Given the description of an element on the screen output the (x, y) to click on. 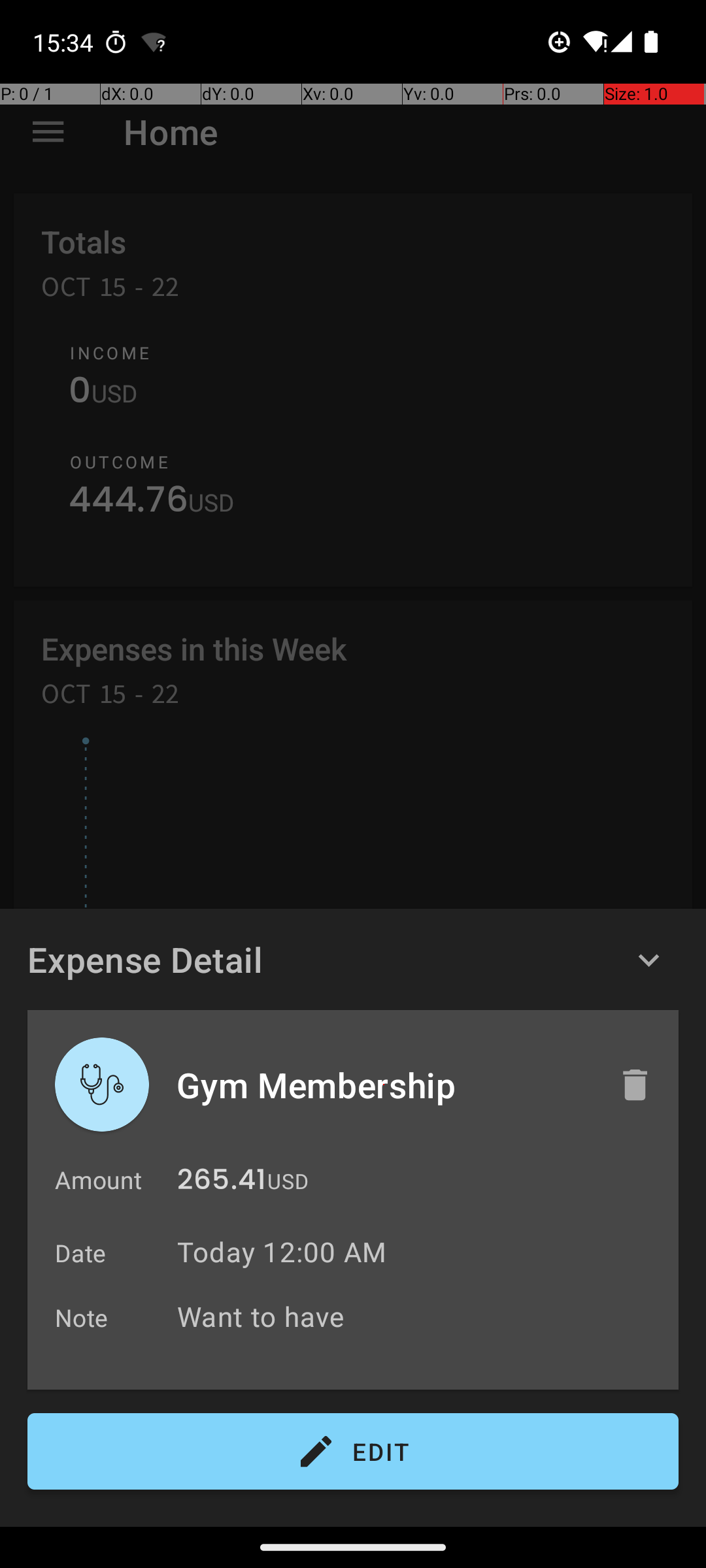
Gym Membership Element type: android.widget.TextView (383, 1084)
265.41 Element type: android.widget.TextView (221, 1182)
Today 12:00 AM Element type: android.widget.TextView (281, 1251)
